Given the description of an element on the screen output the (x, y) to click on. 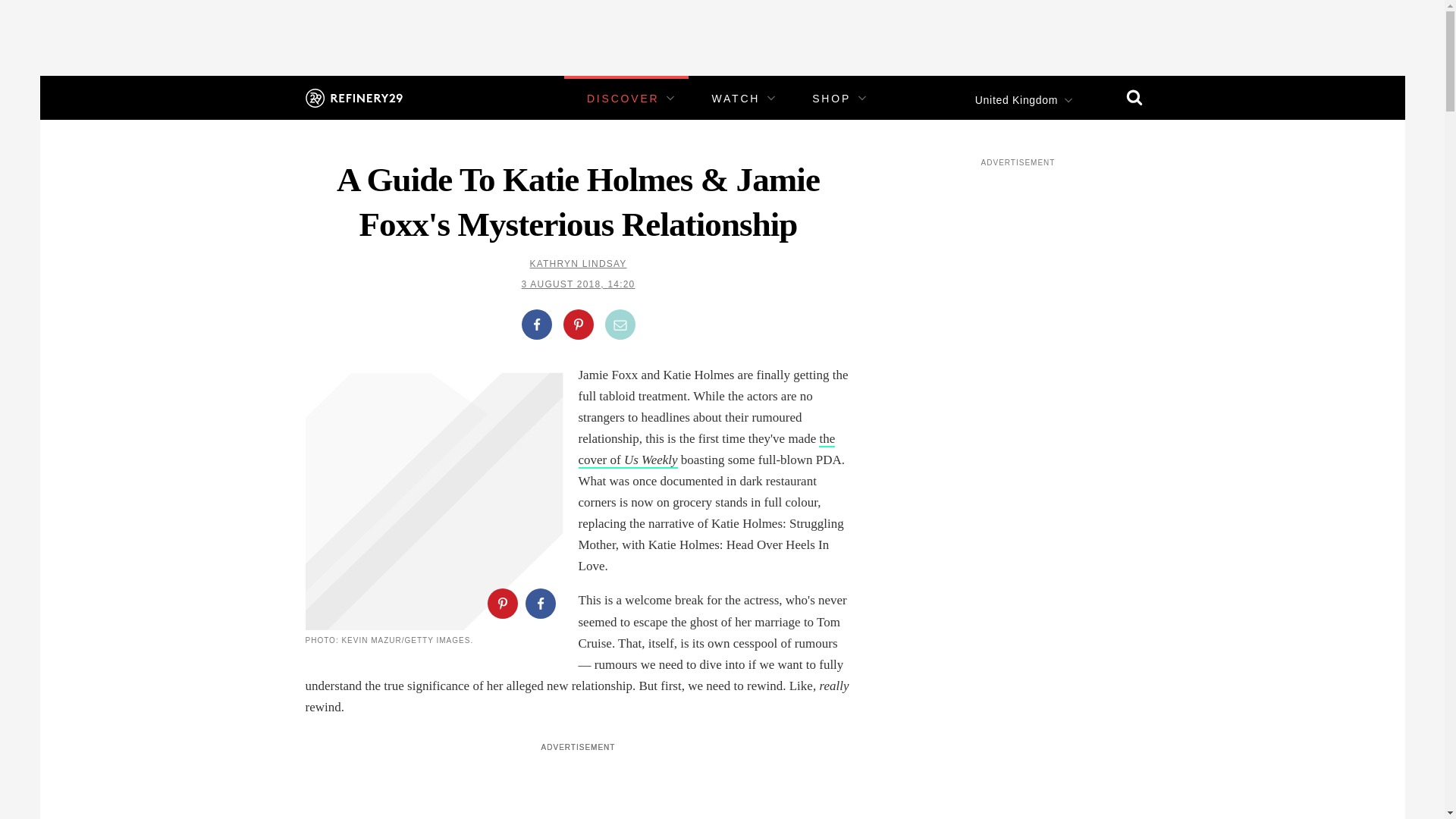
WATCH (735, 98)
Share on Pinterest (501, 603)
3 AUGUST 2018, 14:20 (577, 284)
Share on Pinterest (577, 324)
Refinery29 (352, 97)
DISCOVER (622, 98)
the cover of Us Weekly (706, 449)
Share by Email (619, 324)
SHOP (831, 98)
KATHRYN LINDSAY (577, 263)
